Given the description of an element on the screen output the (x, y) to click on. 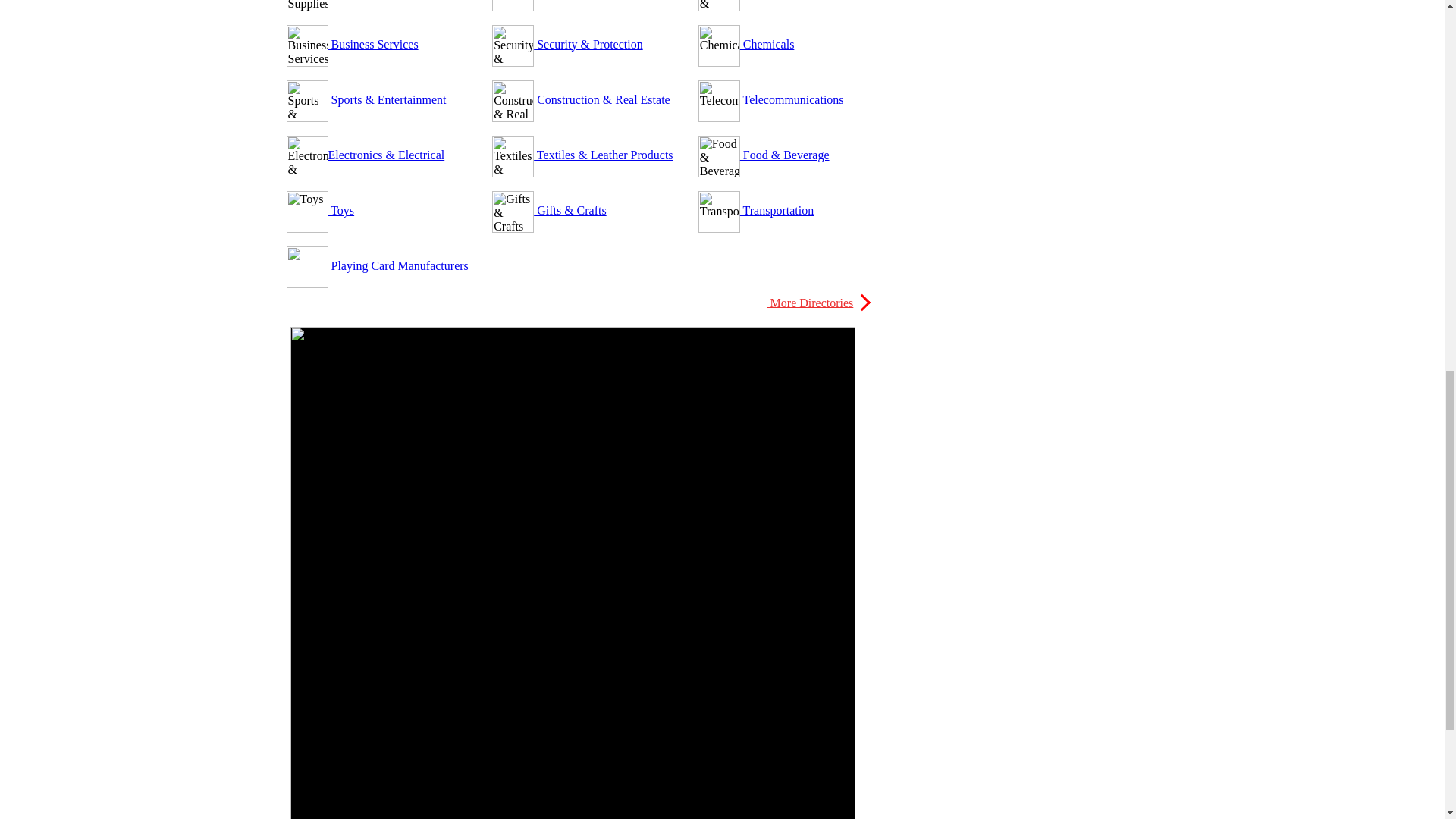
Business Services (372, 43)
Toys (340, 210)
Playing Card Manufacturers (397, 265)
